Given the description of an element on the screen output the (x, y) to click on. 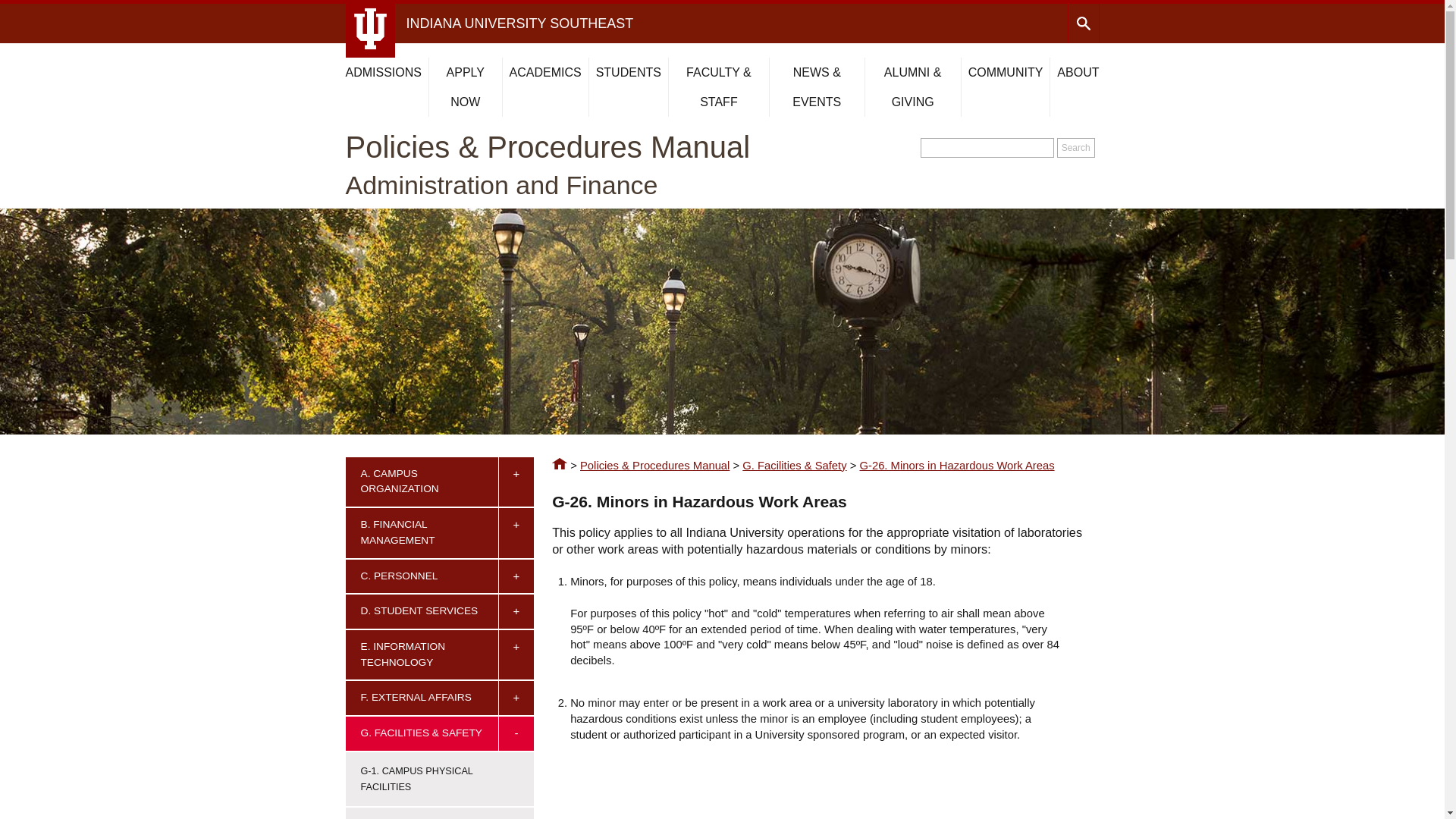
APPLY NOW (465, 87)
INDIANA UNIVERSITY SOUTHEAST (519, 23)
A. CAMPUS ORGANIZATION (424, 481)
Search (1075, 148)
ABOUT (1078, 72)
COMMUNITY (1005, 72)
ADMISSIONS (384, 72)
ACADEMICS (544, 72)
Indiana University Southeast (519, 23)
B. FINANCIAL MANAGEMENT (424, 532)
